Given the description of an element on the screen output the (x, y) to click on. 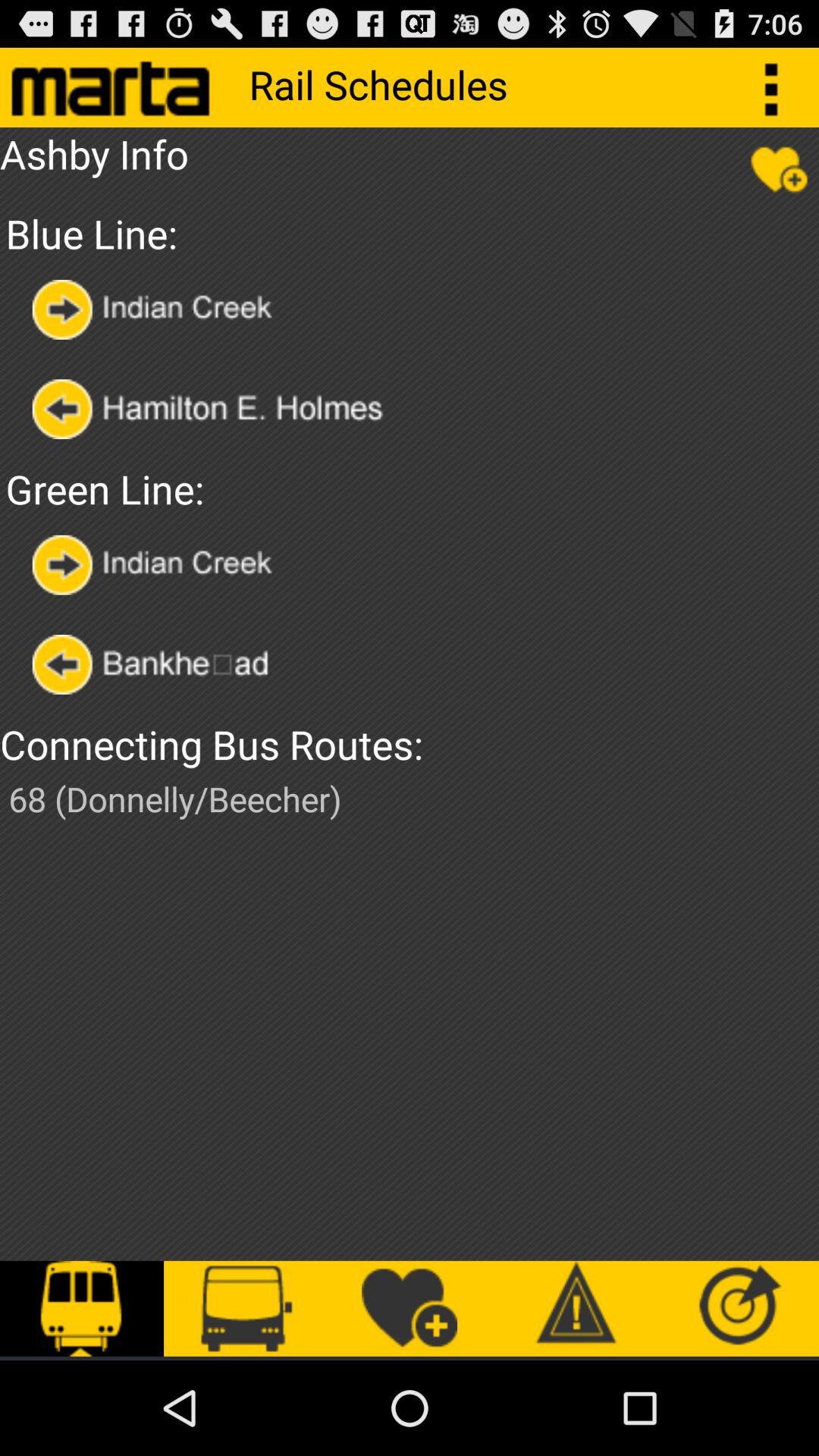
go to indian creek line (156, 309)
